Given the description of an element on the screen output the (x, y) to click on. 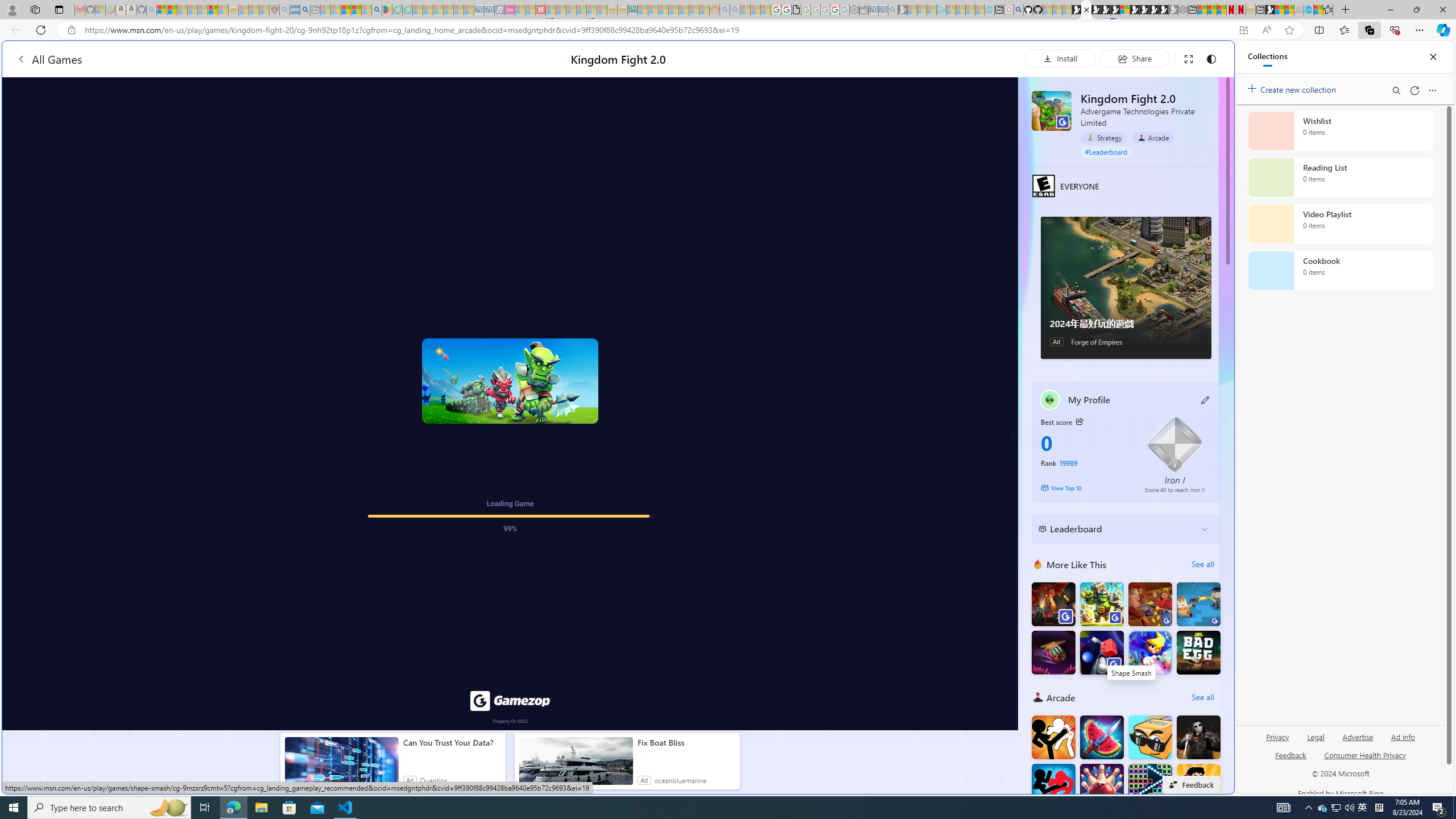
Arcade (1152, 137)
Saloon Robbery (1149, 603)
""'s avatar (1049, 399)
